Given the description of an element on the screen output the (x, y) to click on. 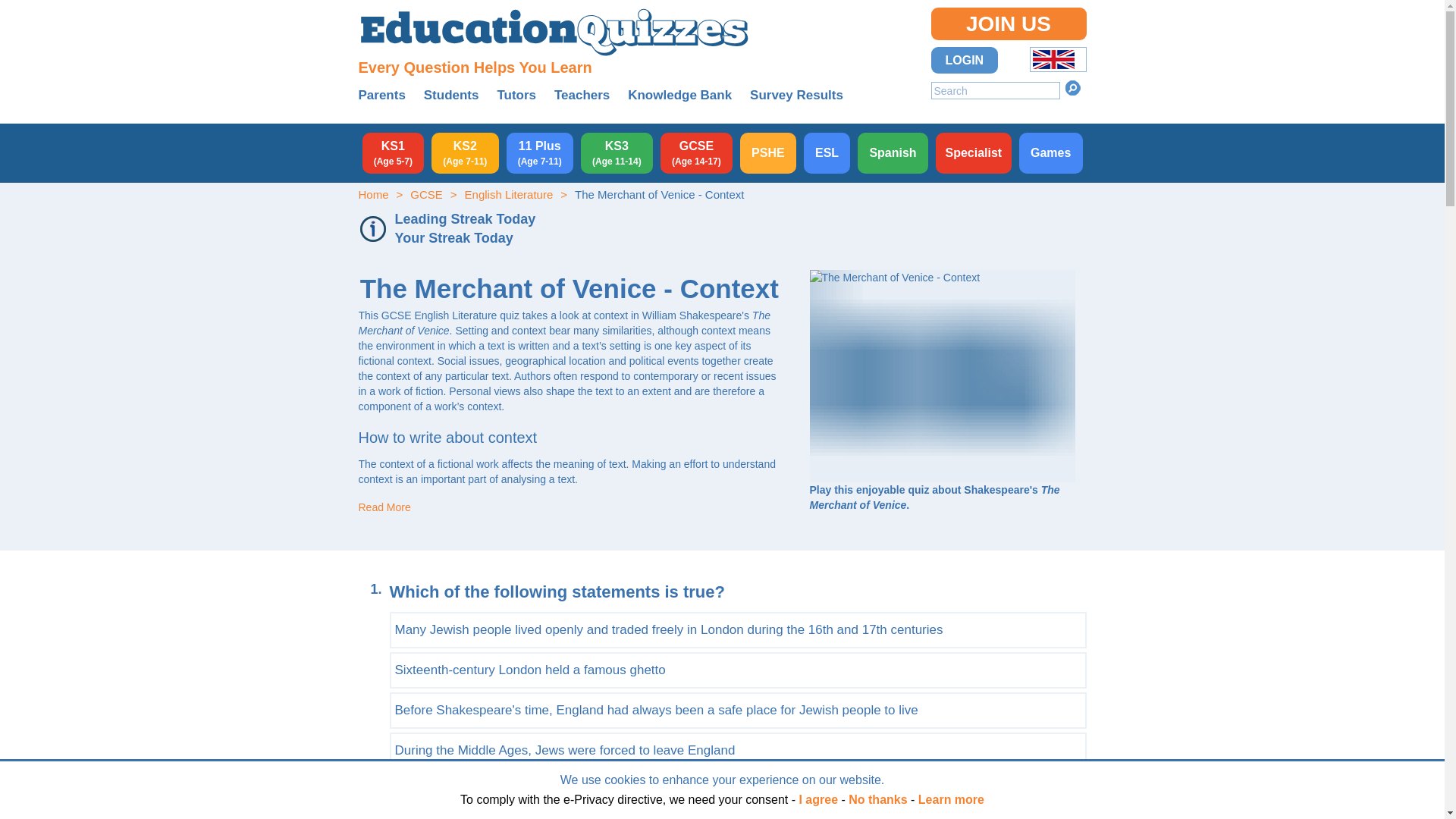
Students (451, 94)
Spanish (892, 152)
Tutors (515, 94)
Home (373, 194)
English Literature (508, 194)
Knowledge Bank (679, 94)
Specialist (973, 152)
Search (1072, 87)
Teachers (582, 94)
GCSE (426, 194)
